Given the description of an element on the screen output the (x, y) to click on. 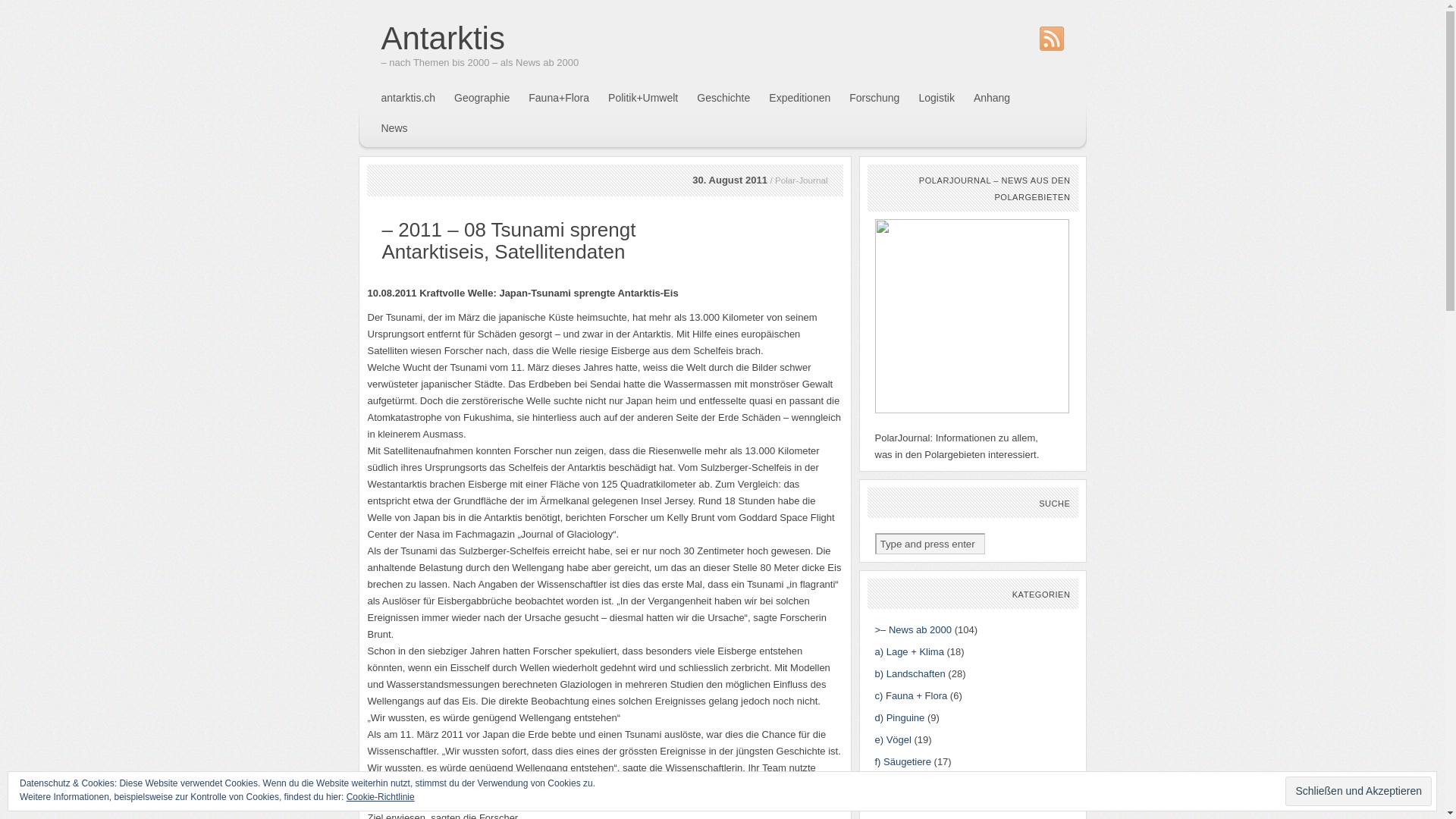
Abonnieren Element type: text (1364, 797)
Politik+Umwelt Element type: text (642, 97)
Geographie Element type: text (481, 97)
antarktis.ch Element type: text (407, 97)
Anhang Element type: text (991, 97)
g) Leben in der Antarktis Element type: text (928, 783)
Fauna+Flora Element type: text (558, 97)
Antarktis Element type: text (442, 38)
d) Pinguine Element type: text (900, 717)
h) Umweltschutz Element type: text (911, 805)
b) Landschaften Element type: text (910, 673)
Geschichte Element type: text (722, 97)
Expeditionen Element type: text (799, 97)
a) Lage + Klima Element type: text (909, 651)
Forschung Element type: text (874, 97)
Logistik Element type: text (935, 97)
c) Fauna + Flora Element type: text (911, 695)
News Element type: text (393, 127)
Cookie-Richtlinie Element type: text (380, 796)
